Given the description of an element on the screen output the (x, y) to click on. 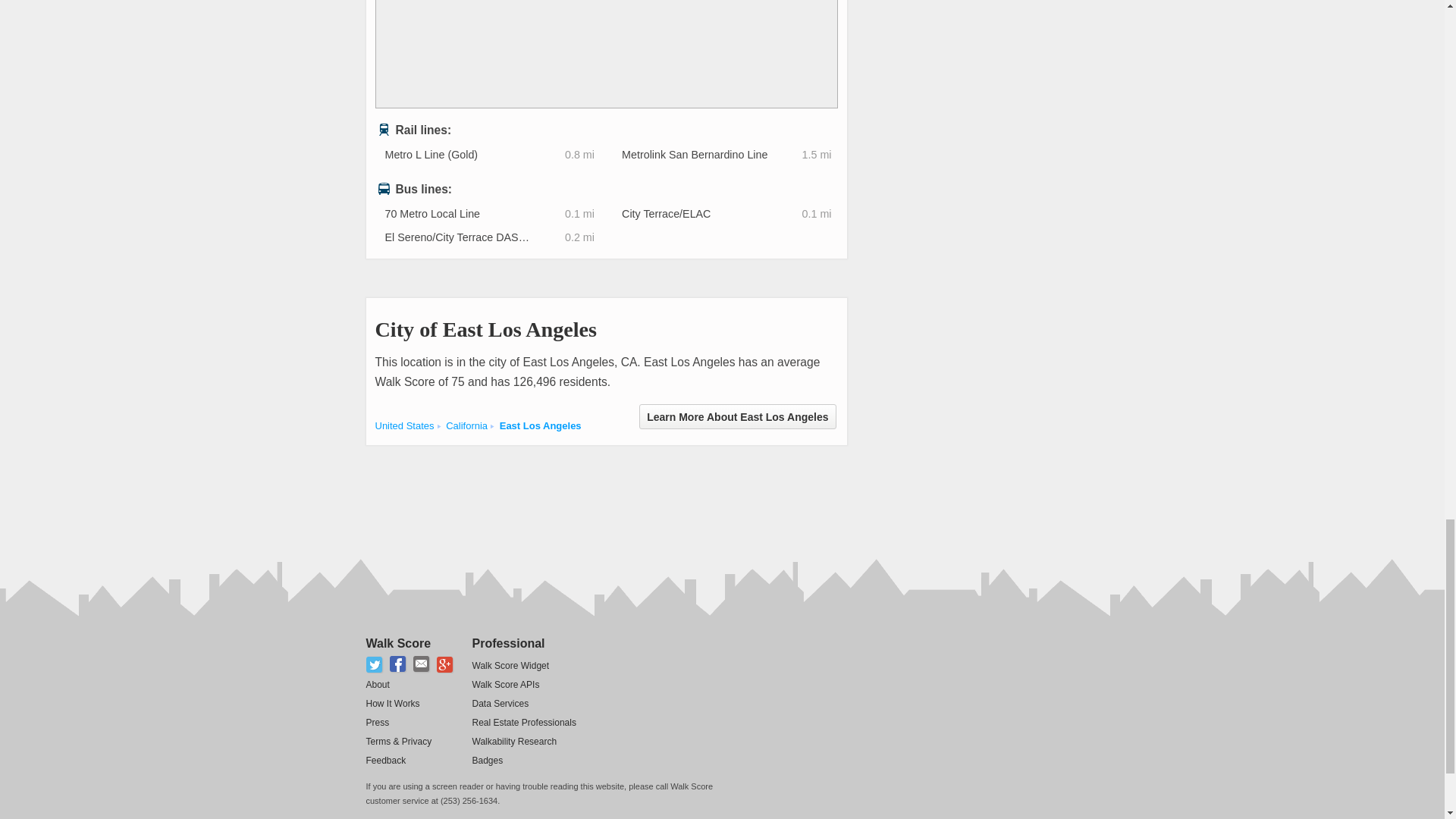
East Los Angeles (539, 425)
United States Walkability Rankings (403, 425)
California (466, 425)
Learn More About East Los Angeles (737, 416)
United States (403, 425)
Walk Score (397, 643)
Cities in California state (466, 425)
3rd party ad content (641, 494)
